Given the description of an element on the screen output the (x, y) to click on. 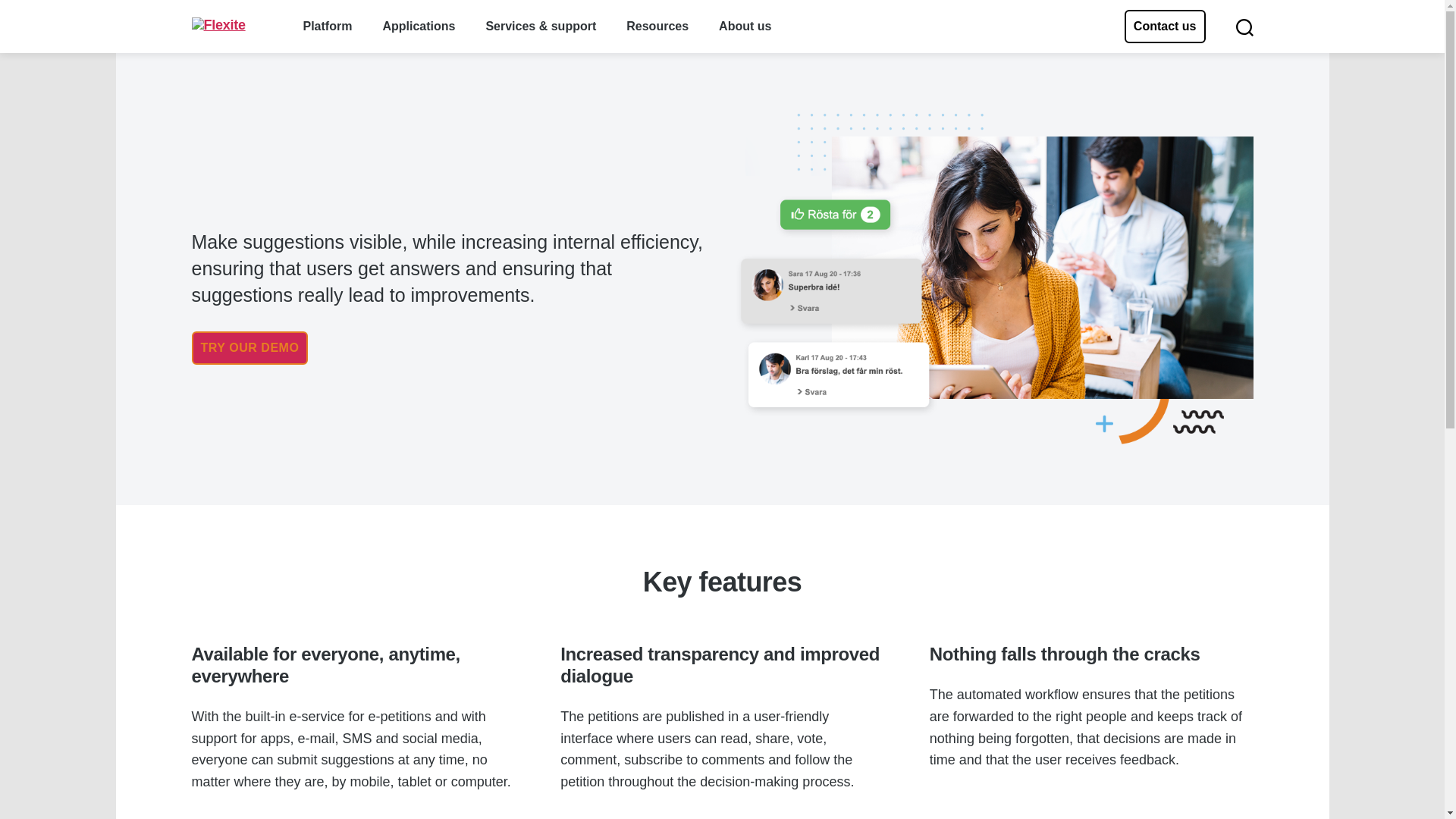
Contact us (1164, 25)
Search (1244, 26)
Resources (657, 25)
About us (745, 25)
Platform (327, 25)
Applications (417, 25)
